Given the description of an element on the screen output the (x, y) to click on. 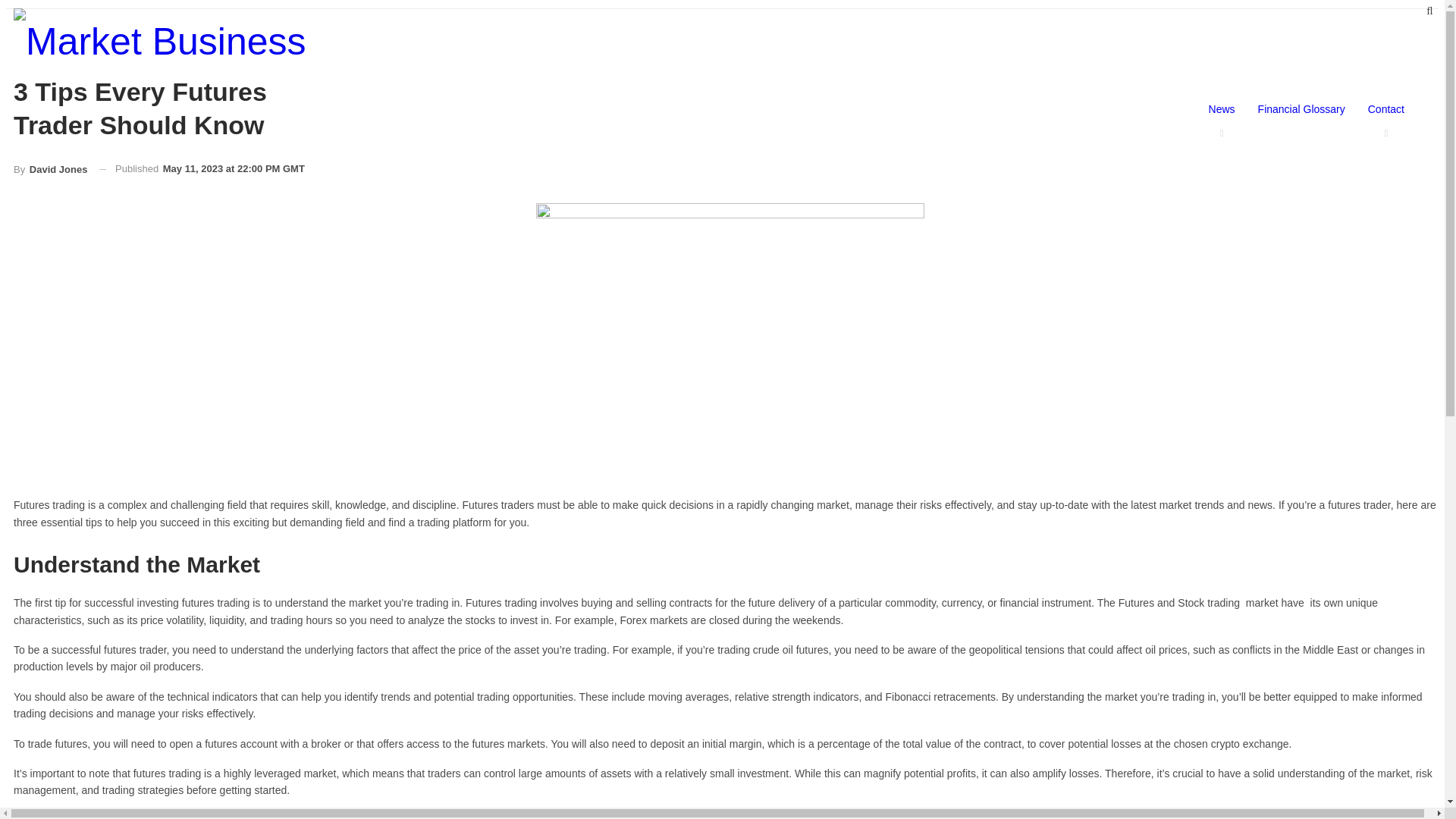
Browse Author Articles (50, 169)
By David Jones (50, 169)
Financial Glossary (1301, 109)
